Given the description of an element on the screen output the (x, y) to click on. 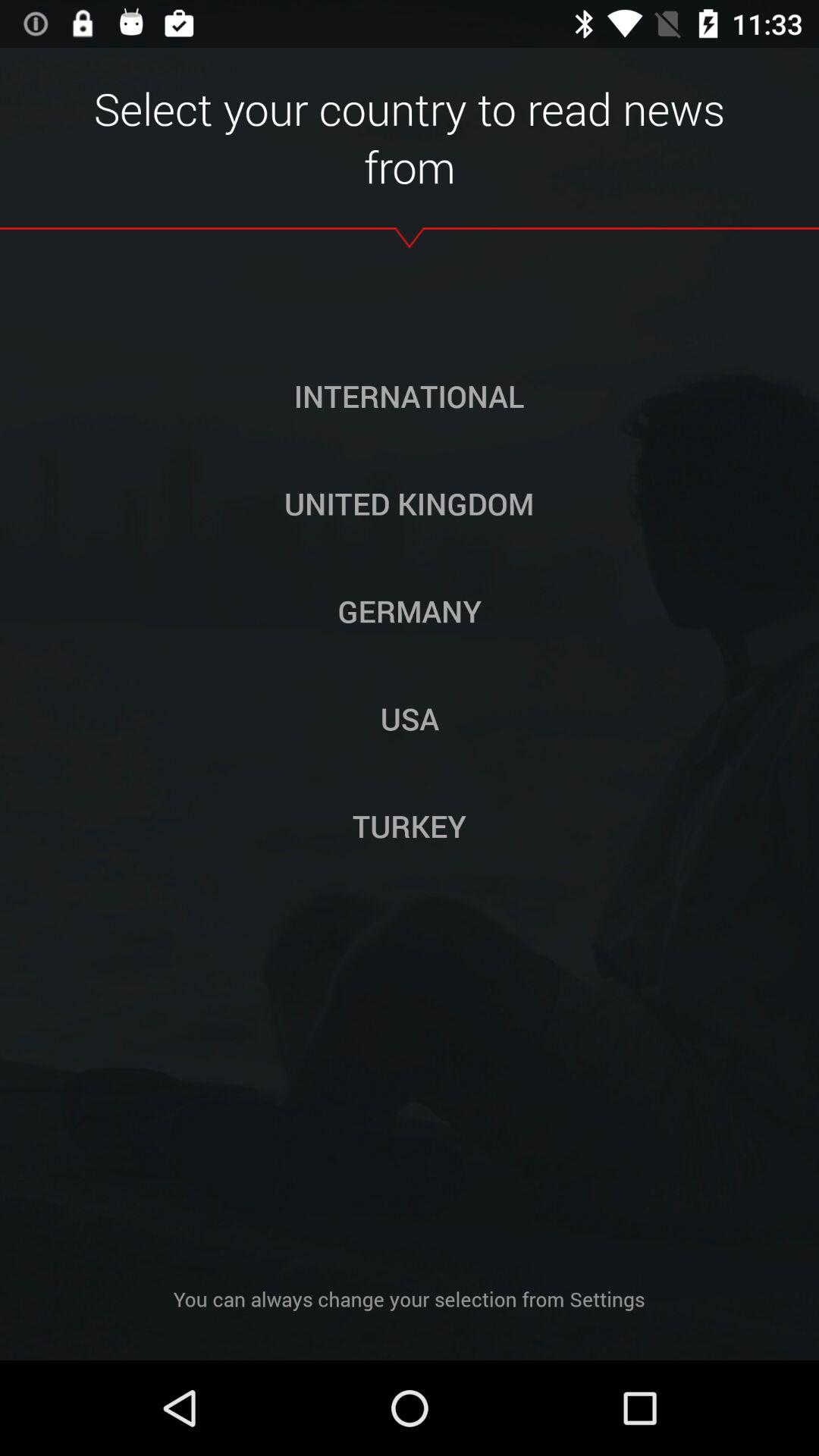
turn on item above the you can always icon (409, 825)
